Given the description of an element on the screen output the (x, y) to click on. 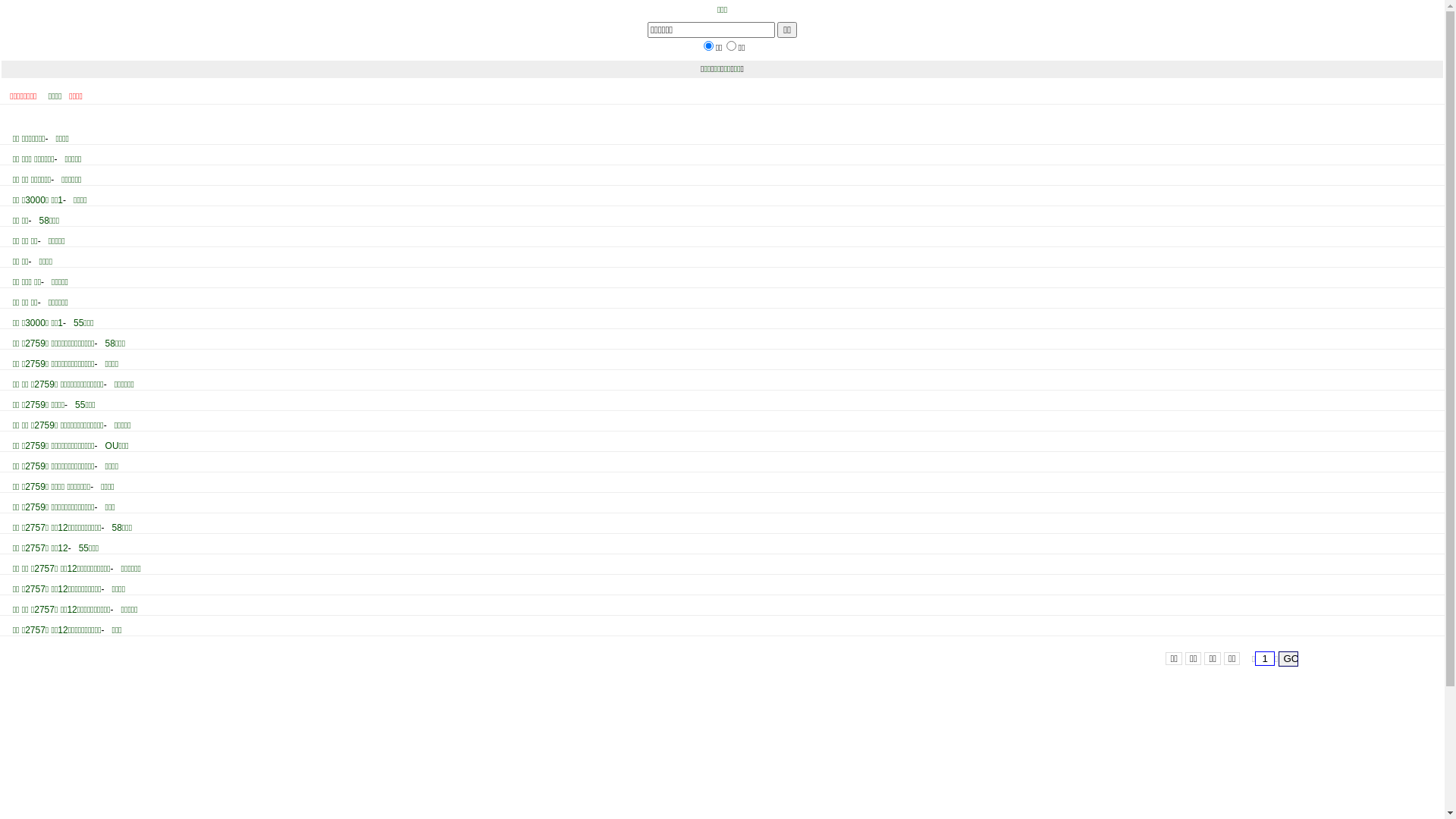
GO Element type: text (1288, 658)
